Given the description of an element on the screen output the (x, y) to click on. 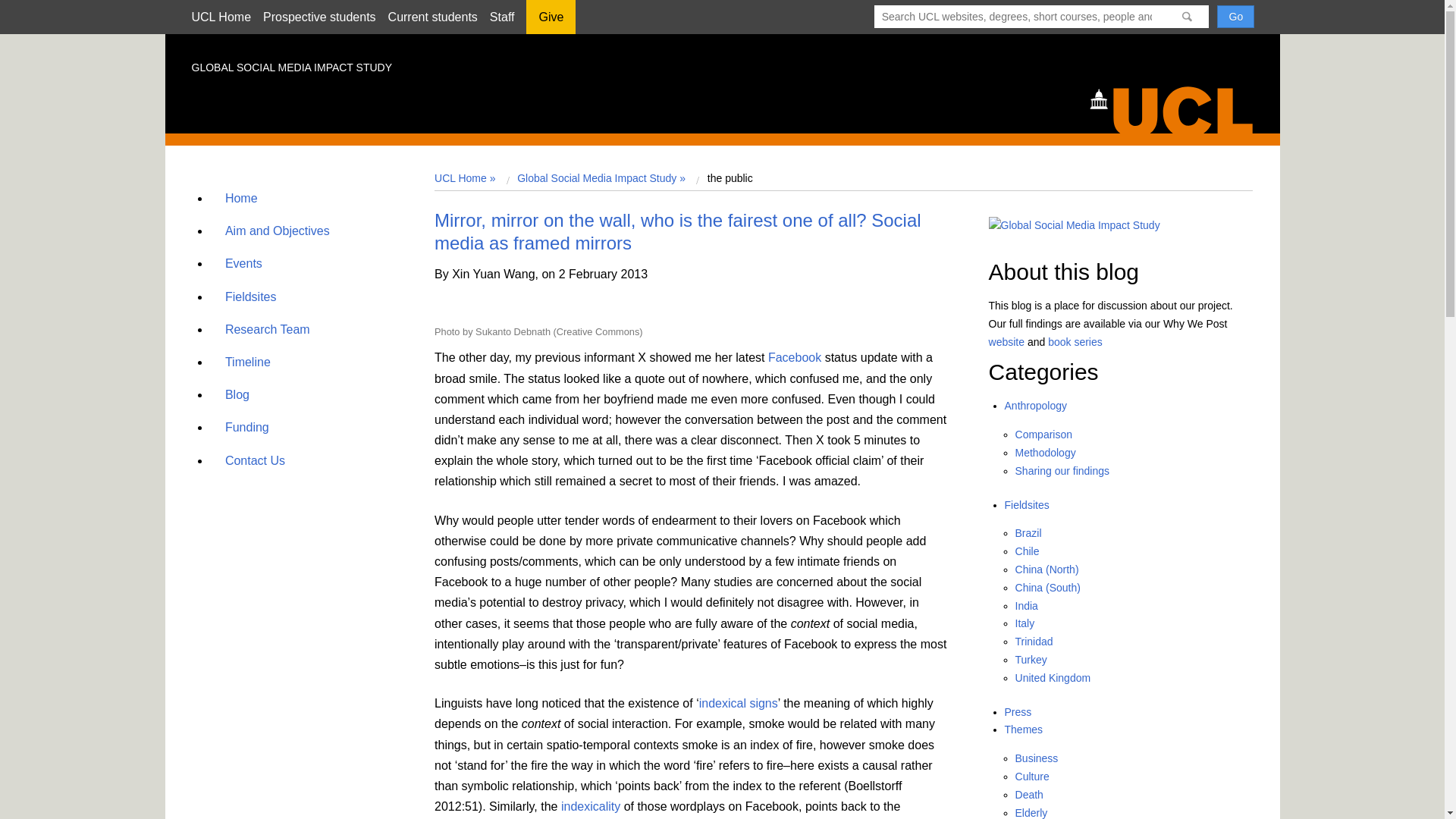
Contact Us (249, 459)
Home (235, 197)
Why We Post website (1006, 341)
indexicality (590, 806)
Timeline (241, 361)
Go (1235, 15)
indexical signs (737, 703)
Go (1235, 15)
Current students (432, 16)
UCL Home (220, 16)
Research Team (261, 328)
Events (238, 263)
Why We Post book series (1075, 341)
